Given the description of an element on the screen output the (x, y) to click on. 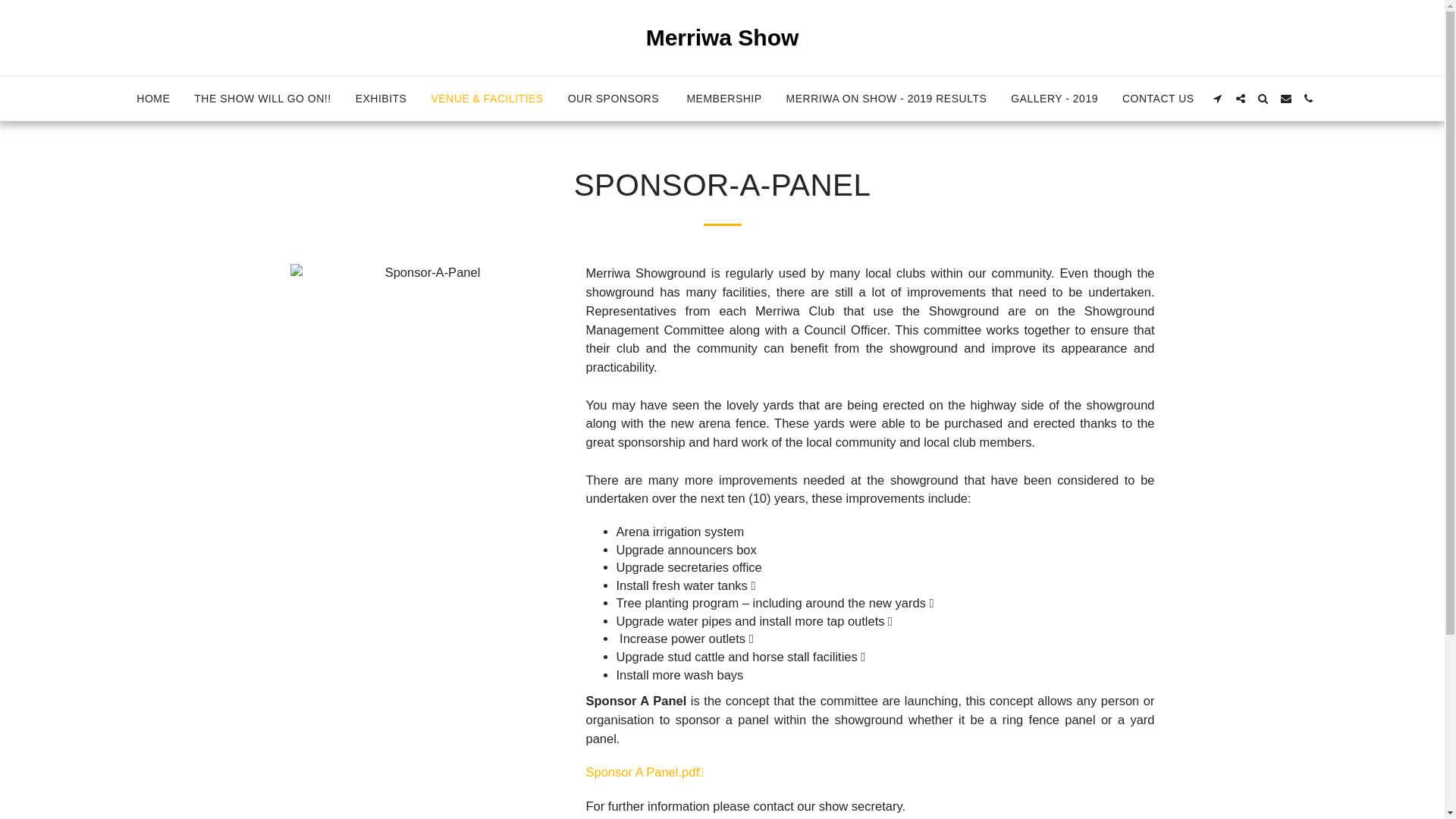
EXHIBITS Element type: text (381, 98)
Sponsor A Panel.pdf Element type: text (644, 771)
  Element type: text (1217, 98)
GALLERY - 2019 Element type: text (1054, 98)
MEMBERSHIP Element type: text (723, 98)
OUR SPONSORS  Element type: text (615, 98)
VENUE & FACILITIES Element type: text (486, 98)
  Element type: text (1308, 98)
  Element type: text (1263, 98)
  Element type: text (1285, 98)
  Element type: text (1240, 98)
MERRIWA ON SHOW - 2019 RESULTS Element type: text (886, 98)
THE SHOW WILL GO ON!! Element type: text (262, 98)
CONTACT US Element type: text (1157, 98)
Merriwa Show Element type: text (722, 37)
HOME Element type: text (153, 98)
